Given the description of an element on the screen output the (x, y) to click on. 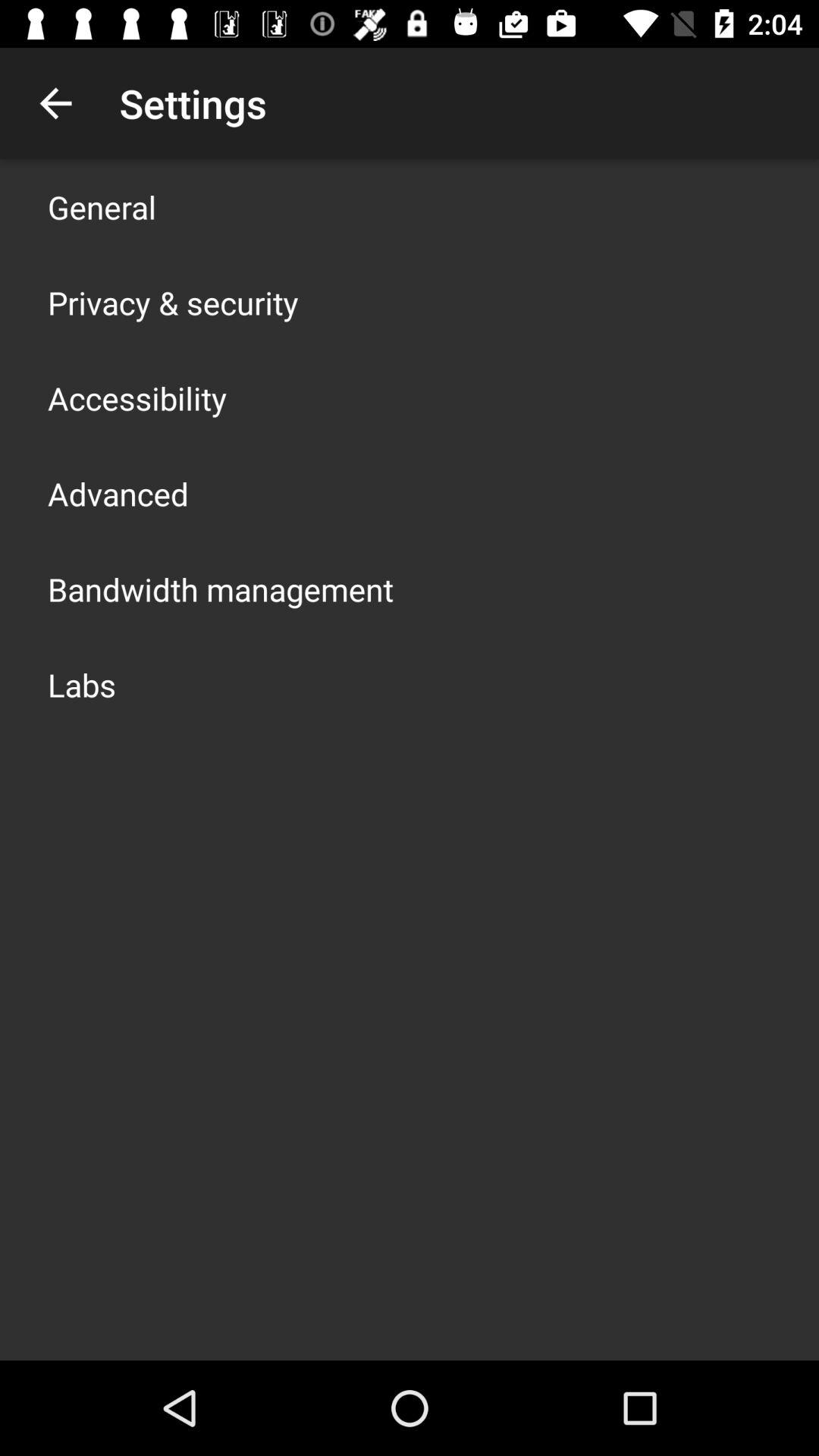
click app below the advanced (220, 588)
